Given the description of an element on the screen output the (x, y) to click on. 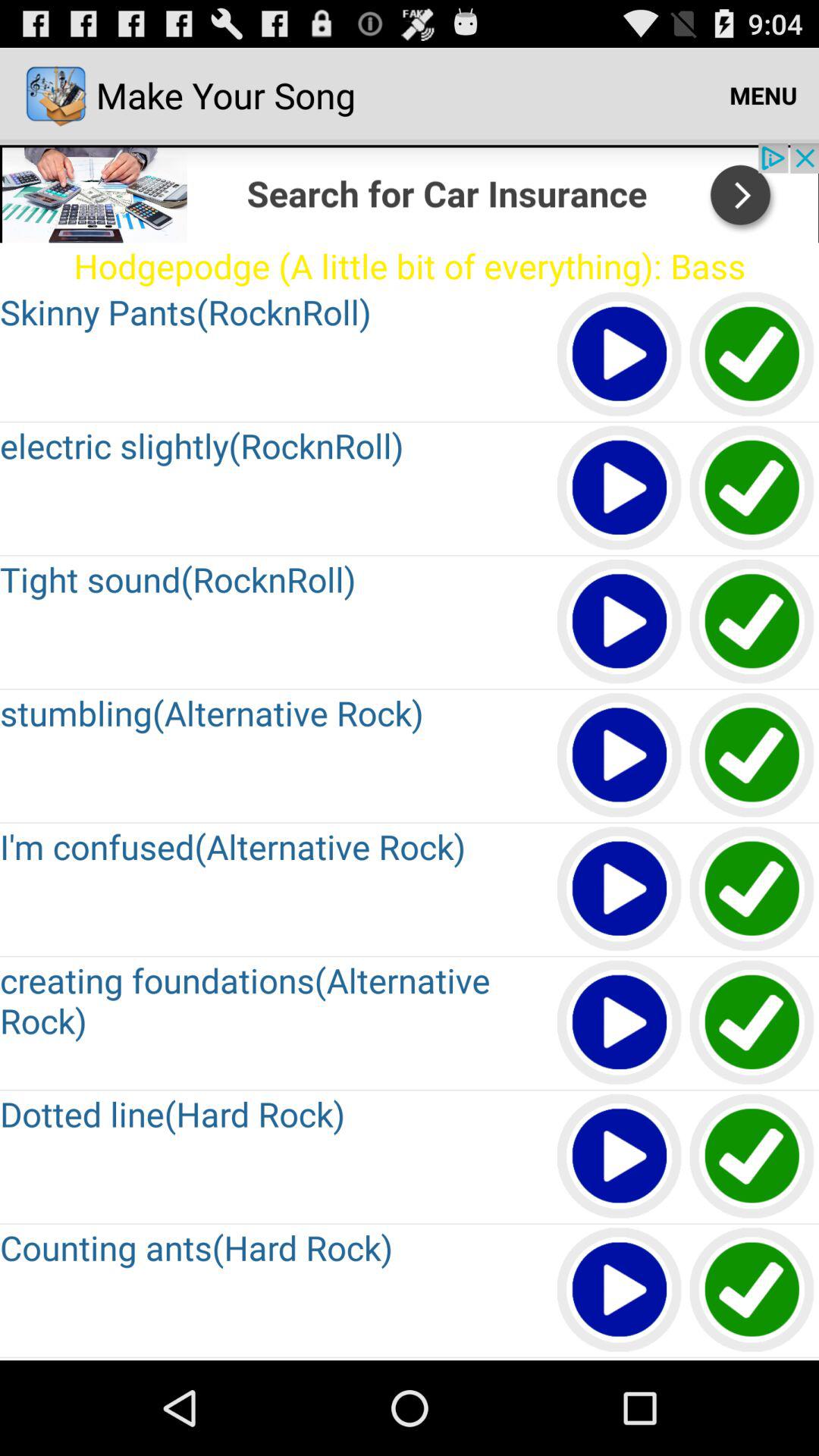
like song (752, 755)
